Given the description of an element on the screen output the (x, y) to click on. 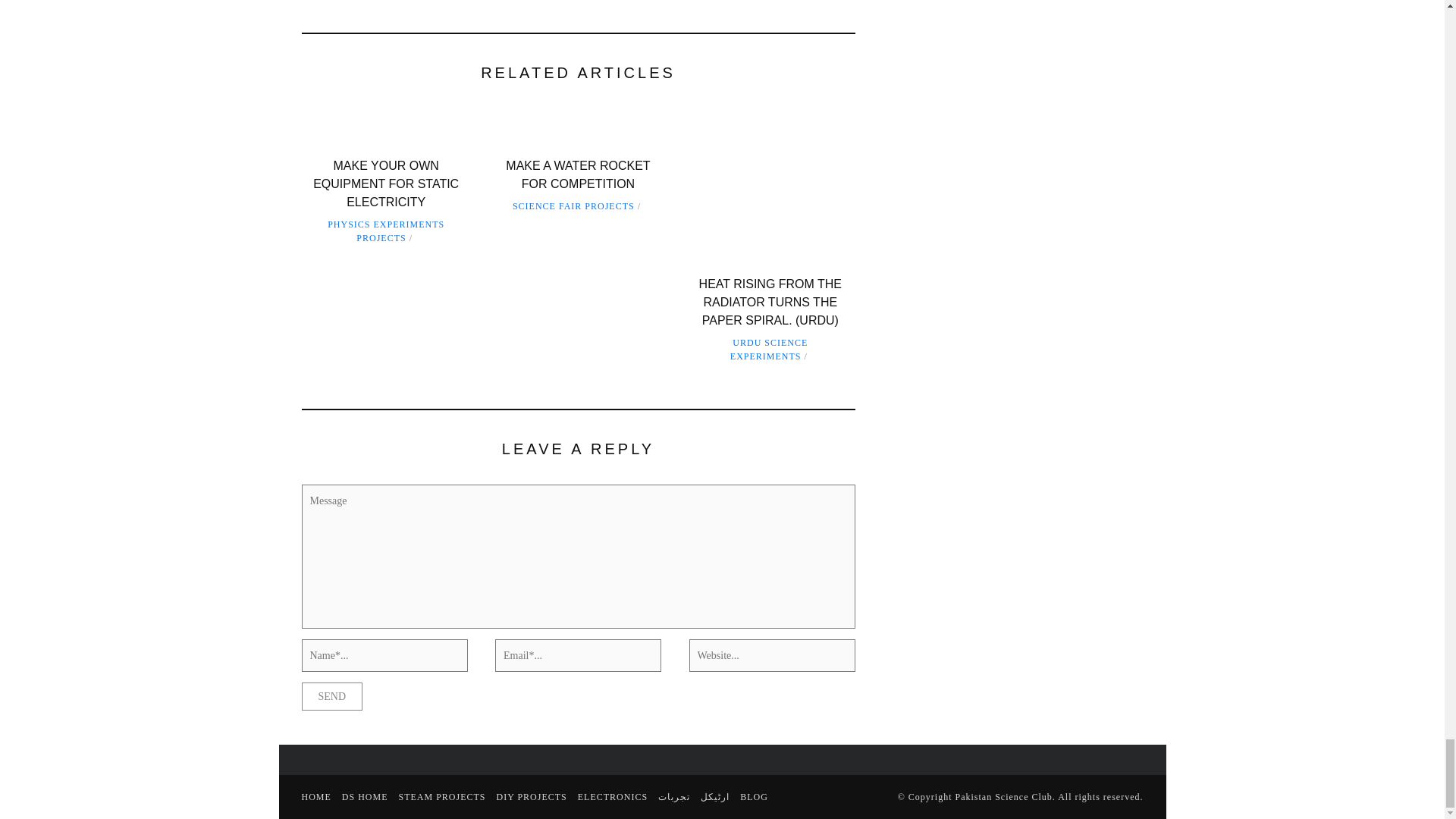
Send (331, 696)
